Given the description of an element on the screen output the (x, y) to click on. 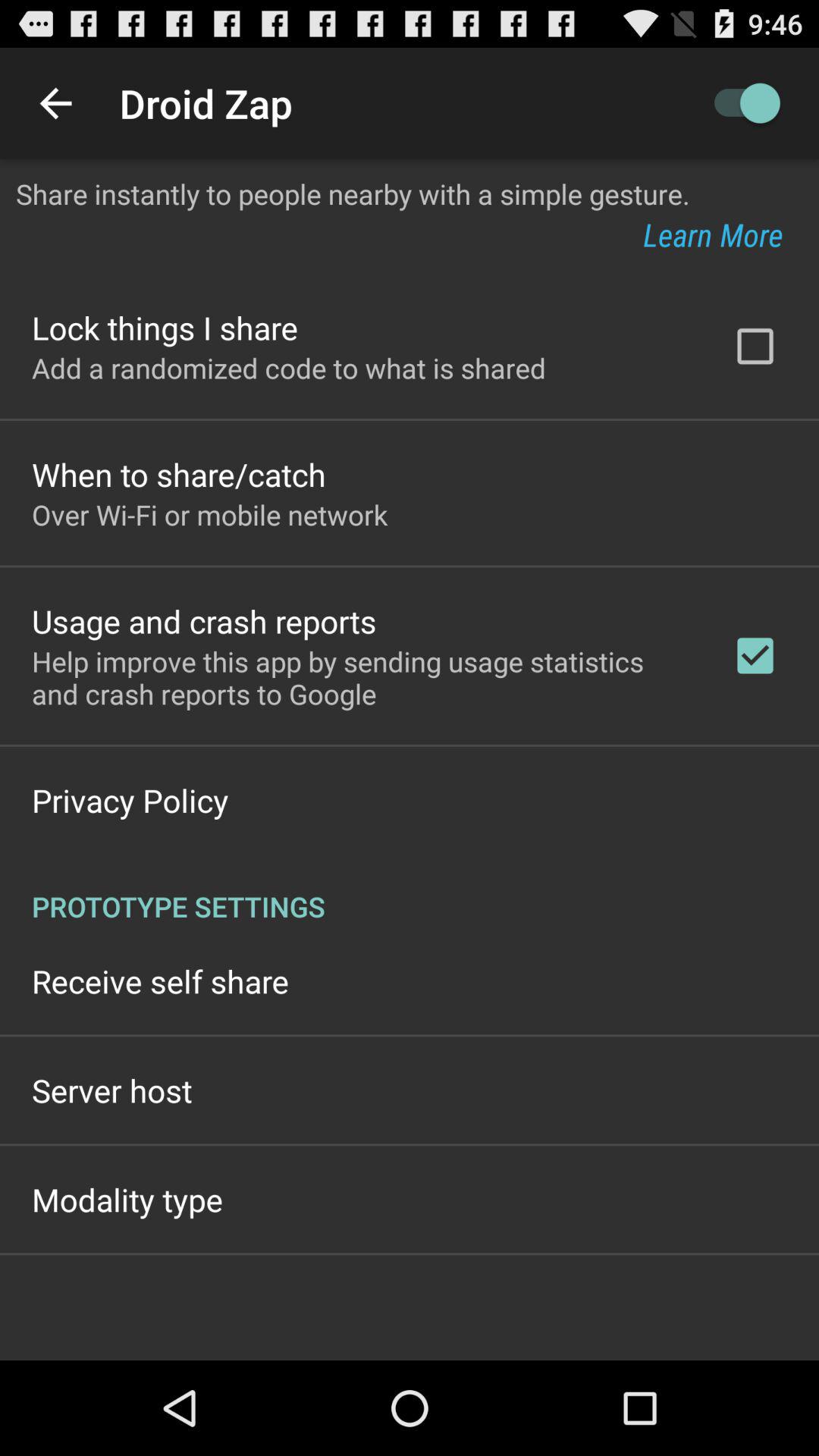
open the icon below privacy policy app (409, 890)
